Given the description of an element on the screen output the (x, y) to click on. 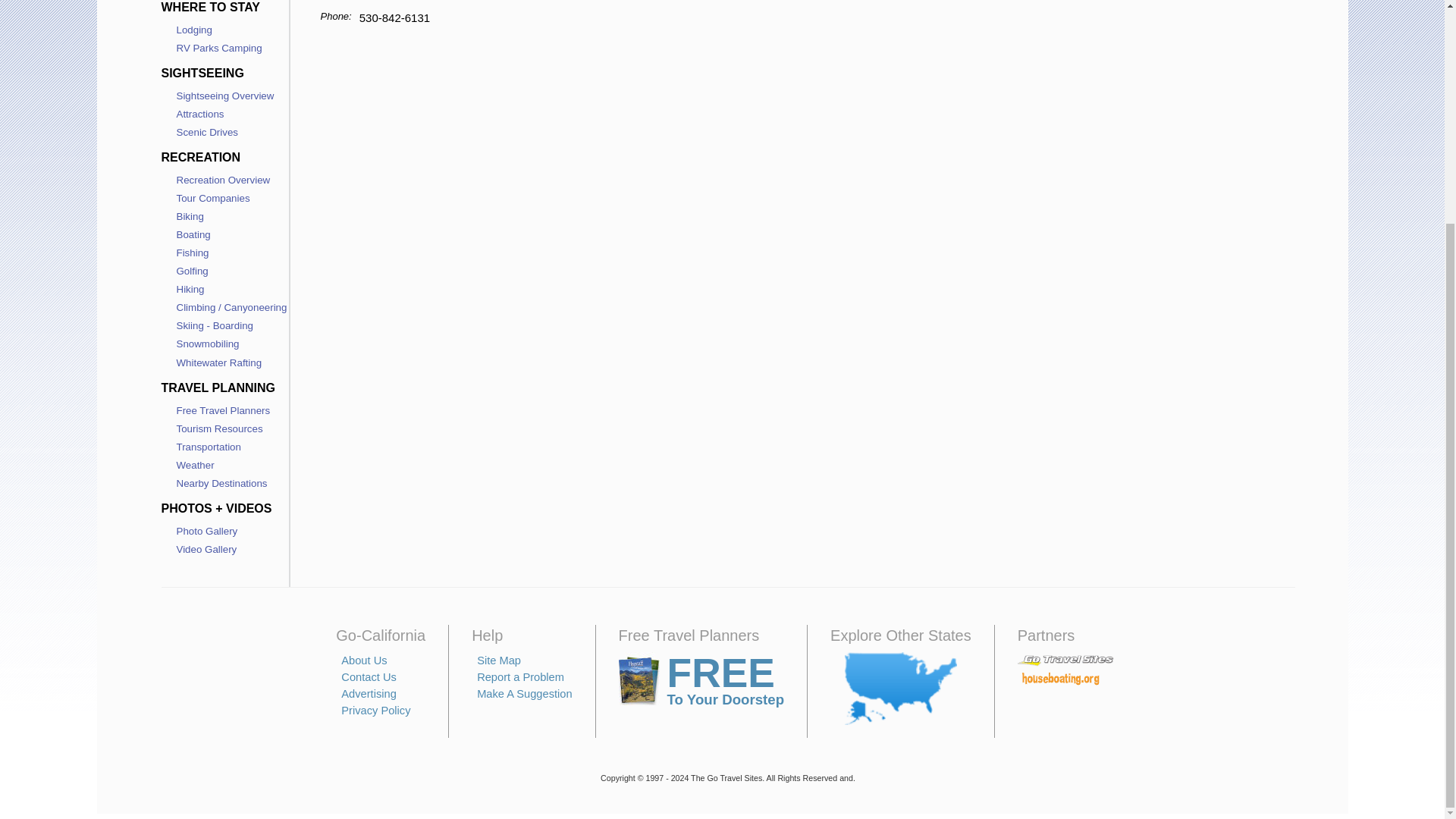
A record of major sections of this website. (499, 660)
Information about this site and the Go Travel Sites. (363, 660)
Request Your California Travel Information (701, 680)
Information about advertising on this site. (368, 693)
Contact Information for this site and the Go Travel Sites. (368, 676)
